Given the description of an element on the screen output the (x, y) to click on. 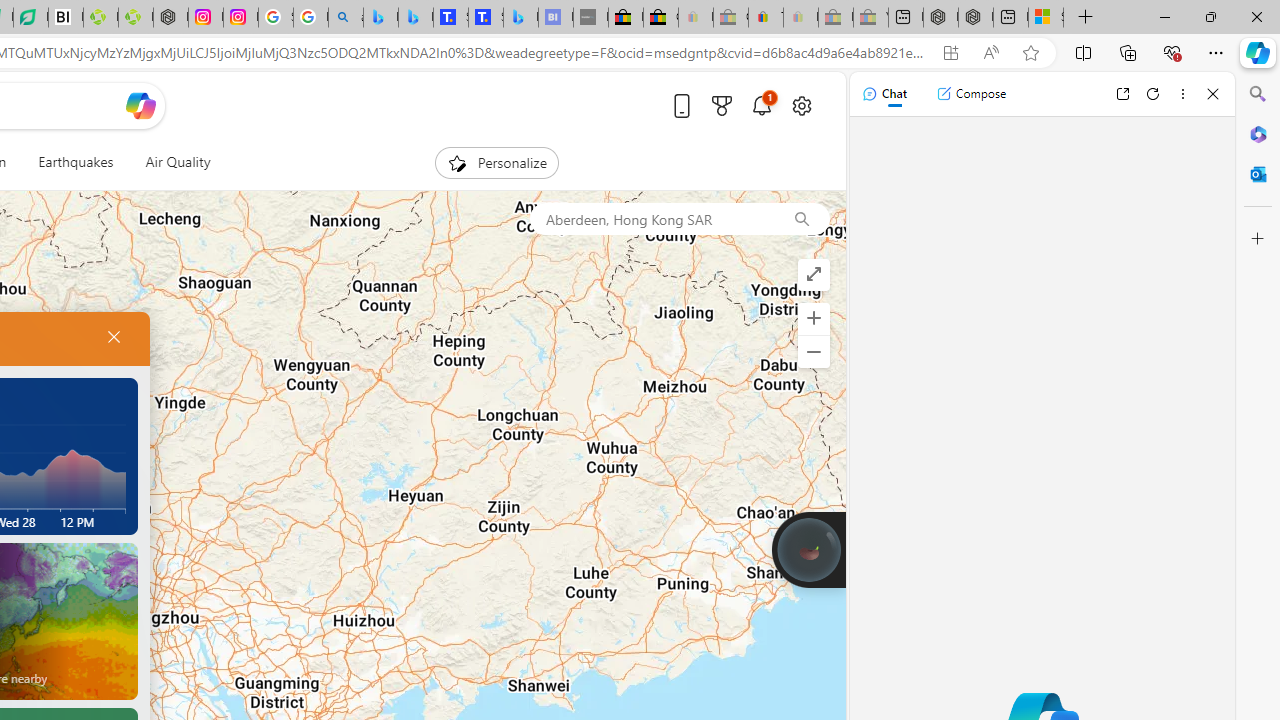
Nvidia va a poner a prueba la paciencia de los inversores (65, 17)
Chat (884, 93)
Earthquakes (75, 162)
Yard, Garden & Outdoor Living - Sleeping (870, 17)
Compose (971, 93)
Threats and offensive language policy | eBay (765, 17)
Microsoft Bing Travel - Shangri-La Hotel Bangkok (520, 17)
